Given the description of an element on the screen output the (x, y) to click on. 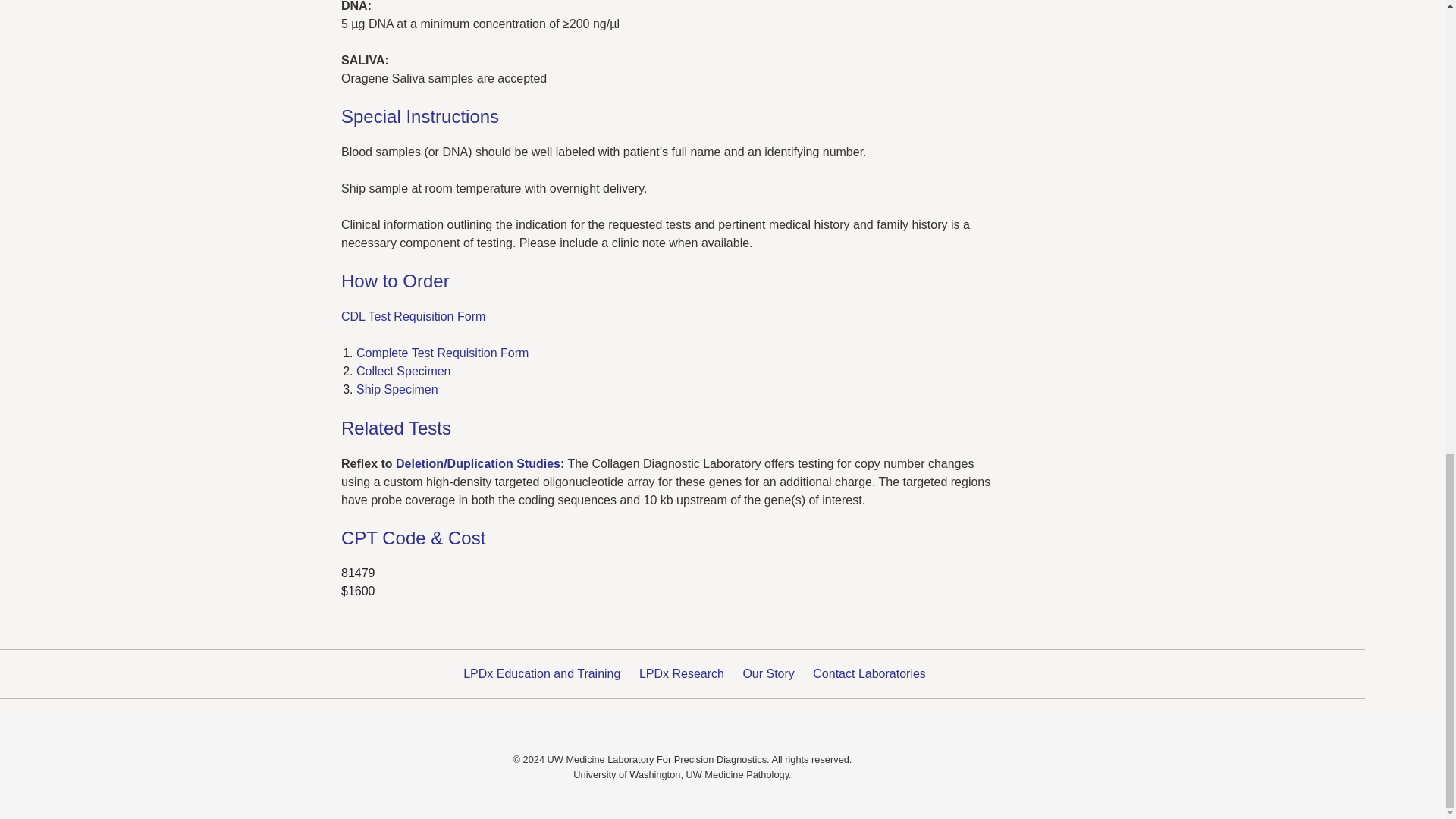
Collect Specimen (403, 370)
CDL Test Requisition Form (412, 316)
Ship (368, 389)
Complete Test Requisition Form (442, 352)
